Given the description of an element on the screen output the (x, y) to click on. 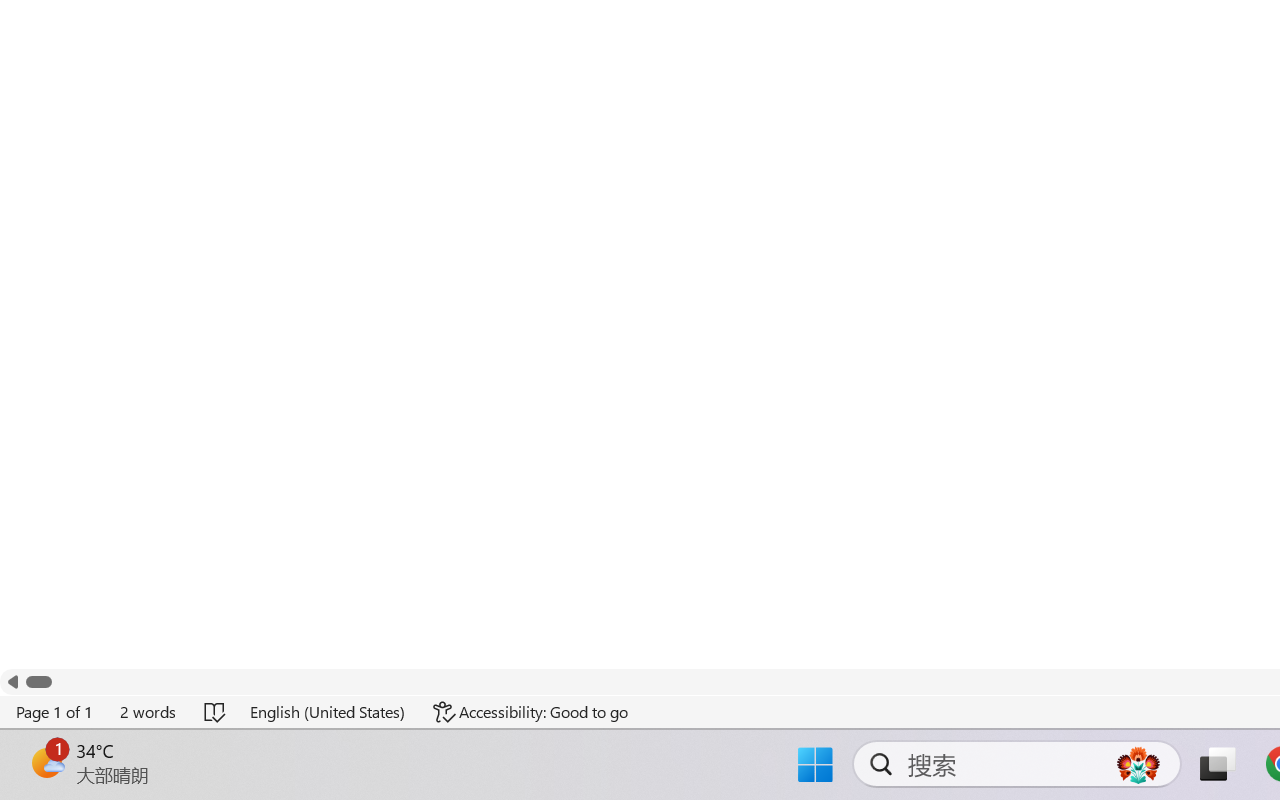
AutomationID: DynamicSearchBoxGleamImage (1138, 764)
Language English (United States) (328, 712)
AutomationID: BadgeAnchorLargeTicker (46, 762)
Spelling and Grammar Check No Errors (216, 712)
Accessibility Checker Accessibility: Good to go (531, 712)
Column left (12, 681)
Page Number Page 1 of 1 (55, 712)
Word Count 2 words (149, 712)
